Given the description of an element on the screen output the (x, y) to click on. 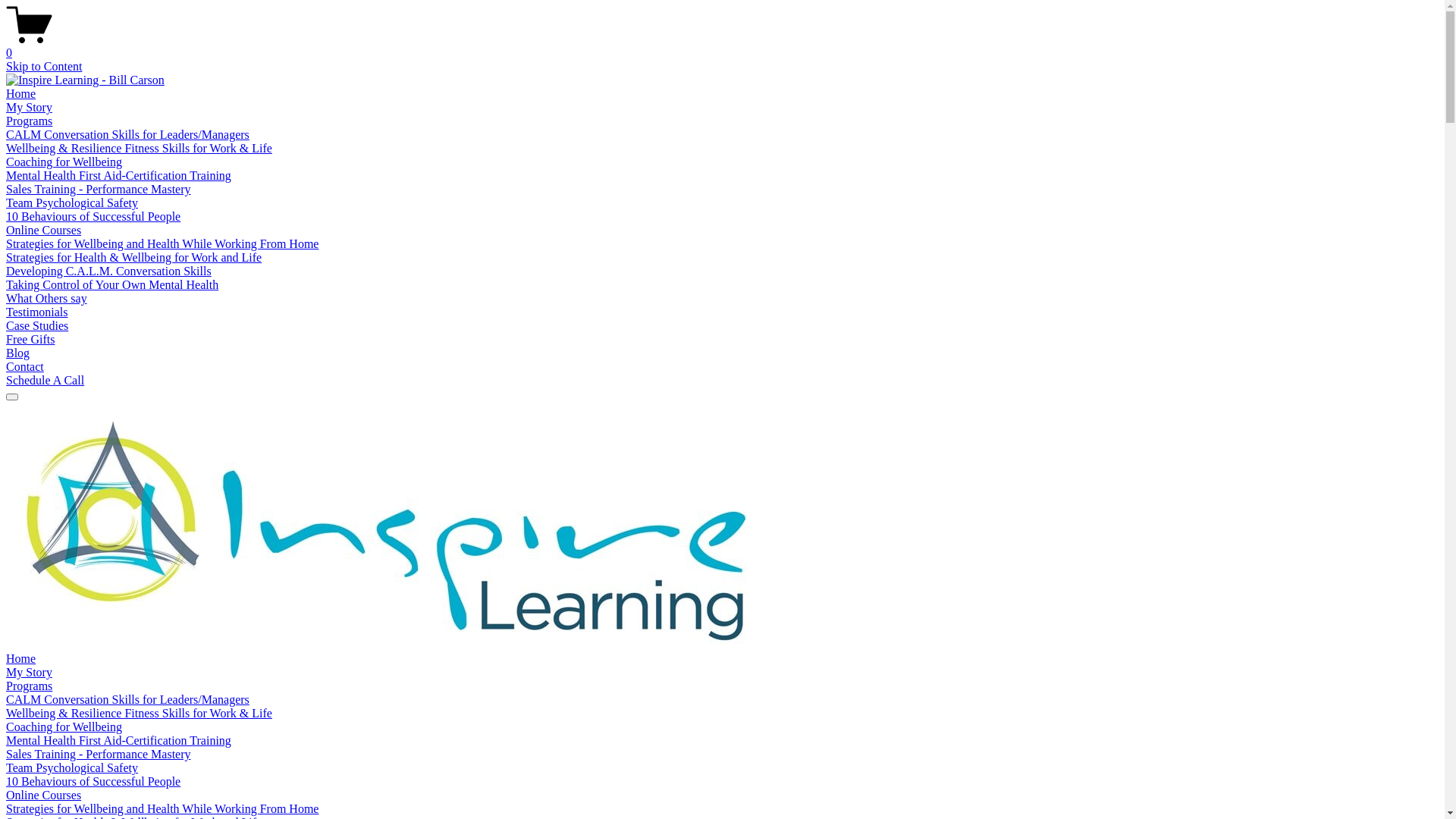
Wellbeing & Resilience Fitness Skills for Work & Life Element type: text (139, 147)
Wellbeing & Resilience Fitness Skills for Work & Life Element type: text (139, 712)
Home Element type: text (20, 658)
My Story Element type: text (29, 106)
Skip to Content Element type: text (43, 65)
Programs Element type: text (29, 685)
Testimonials Element type: text (37, 311)
Strategies for Health & Wellbeing for Work and Life Element type: text (133, 257)
CALM Conversation Skills for Leaders/Managers Element type: text (127, 699)
What Others say Element type: text (46, 297)
Contact Element type: text (24, 366)
Schedule A Call Element type: text (45, 379)
Free Gifts Element type: text (30, 338)
My Story Element type: text (29, 671)
Programs Element type: text (29, 120)
CALM Conversation Skills for Leaders/Managers Element type: text (127, 134)
Mental Health First Aid-Certification Training Element type: text (118, 175)
Team Psychological Safety Element type: text (72, 767)
Strategies for Wellbeing and Health While Working From Home Element type: text (162, 243)
Team Psychological Safety Element type: text (72, 202)
Developing C.A.L.M. Conversation Skills Element type: text (108, 270)
Coaching for Wellbeing Element type: text (64, 161)
10 Behaviours of Successful People Element type: text (93, 216)
10 Behaviours of Successful People Element type: text (93, 781)
Taking Control of Your Own Mental Health Element type: text (112, 284)
Home Element type: text (20, 93)
Online Courses Element type: text (43, 794)
Coaching for Wellbeing Element type: text (64, 726)
Blog Element type: text (17, 352)
Online Courses Element type: text (43, 229)
Mental Health First Aid-Certification Training Element type: text (118, 740)
Strategies for Wellbeing and Health While Working From Home Element type: text (162, 808)
0 Element type: text (722, 45)
Sales Training - Performance Mastery Element type: text (98, 188)
Sales Training - Performance Mastery Element type: text (98, 753)
Case Studies Element type: text (37, 325)
